Given the description of an element on the screen output the (x, y) to click on. 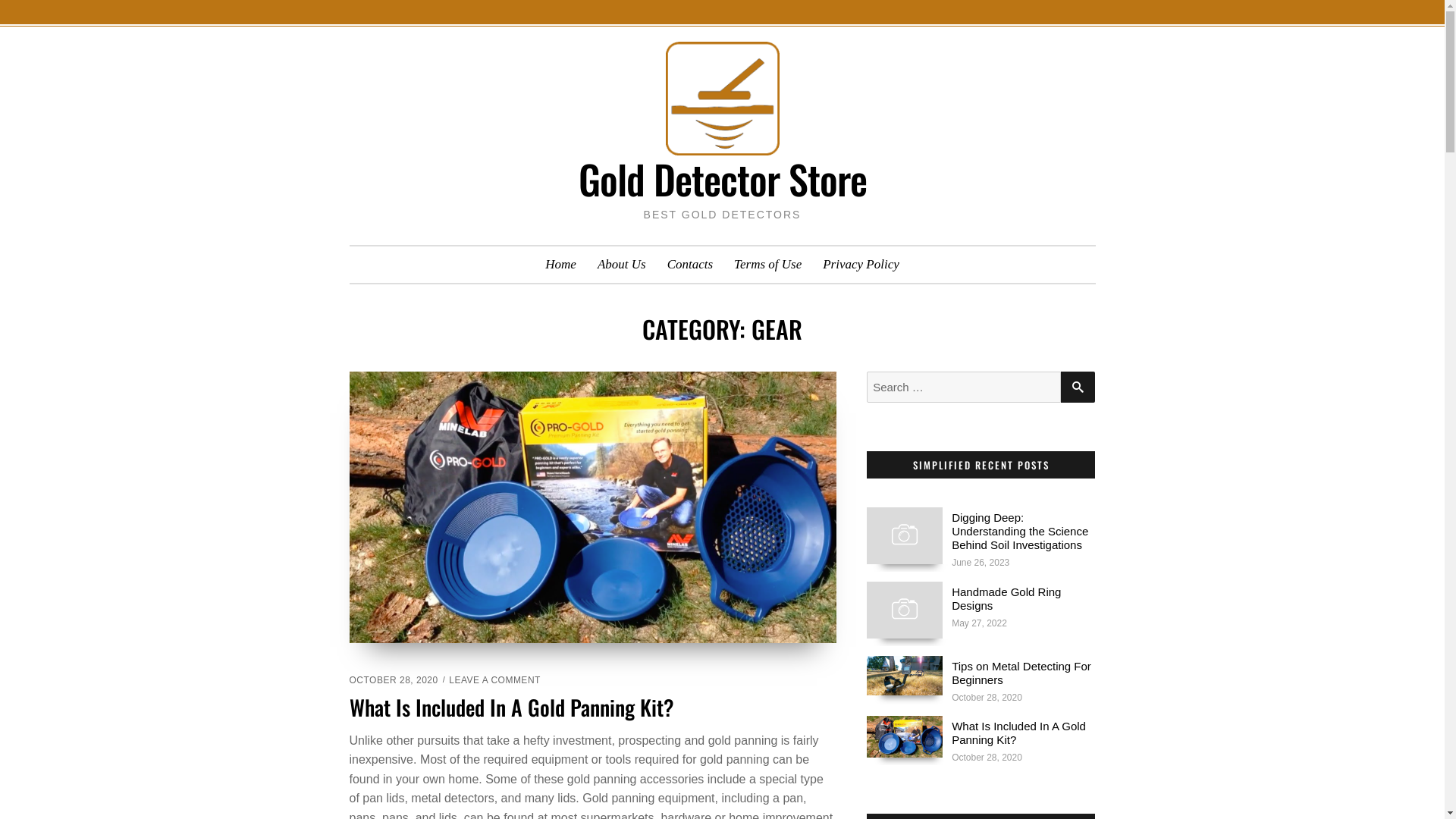
Terms of Use Element type: text (767, 264)
Tips on Metal Detecting For Beginners Element type: text (1021, 672)
Tips on Metal Detecting For Beginners Element type: hover (904, 674)
What Is Included In A Gold Panning Kit? Element type: hover (904, 734)
Privacy Policy Element type: text (860, 264)
LEAVE A COMMENT
ON WHAT IS INCLUDED IN A GOLD PANNING KIT? Element type: text (494, 679)
OCTOBER 28, 2020 Element type: text (392, 679)
Handmade Gold Ring Designs Element type: hover (904, 608)
Handmade Gold Ring Designs Element type: text (1005, 598)
SEARCH Element type: text (1077, 386)
Home Element type: text (560, 264)
What Is Included In A Gold Panning Kit? Element type: text (510, 706)
Contacts Element type: text (689, 264)
Gold Detector Store Element type: text (721, 178)
What Is Included In A Gold Panning Kit? Element type: text (1018, 732)
About Us Element type: text (621, 264)
